Given the description of an element on the screen output the (x, y) to click on. 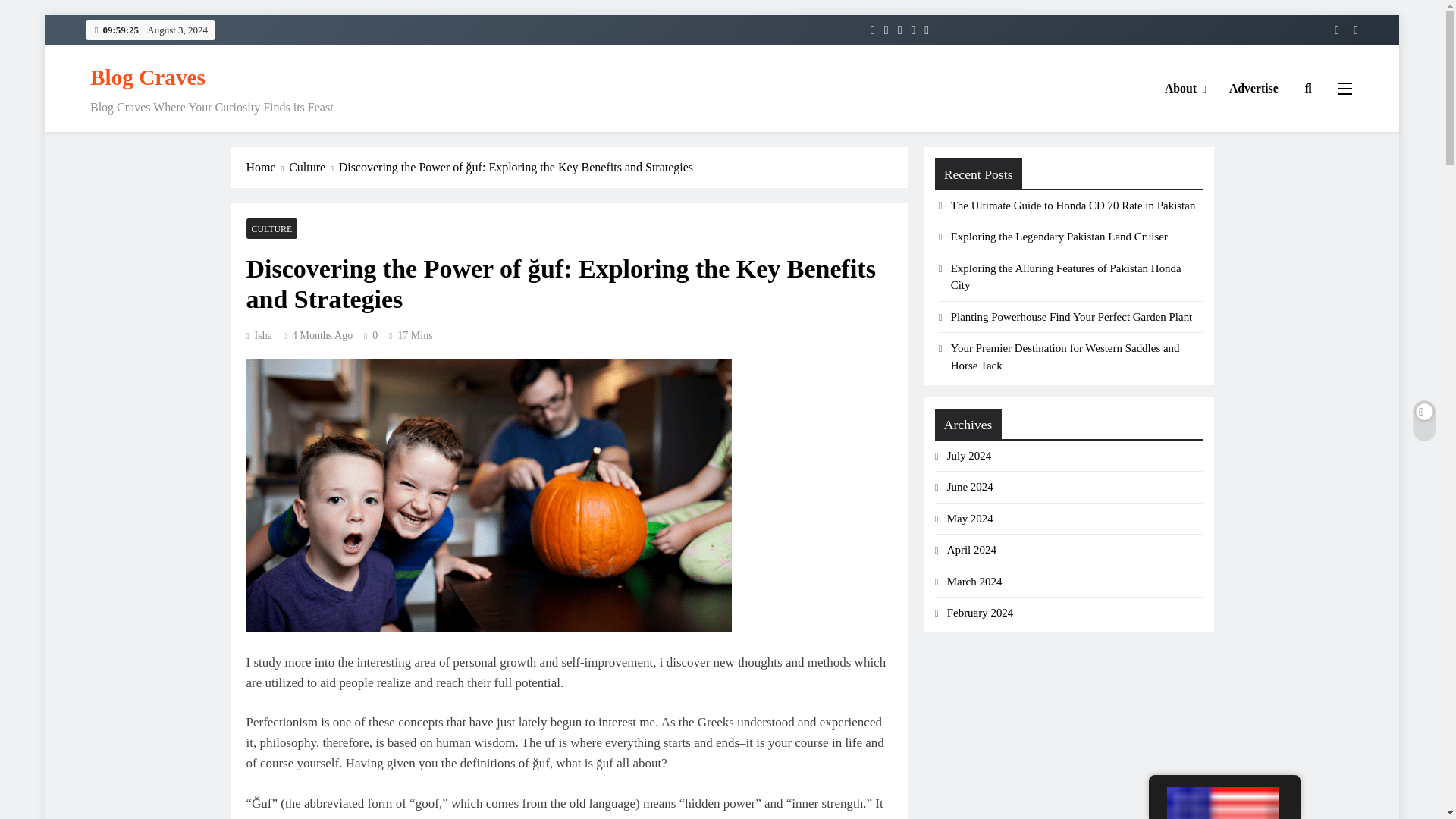
Blog Craves (147, 77)
Advertise (1253, 87)
About (1185, 88)
English (1222, 803)
